Given the description of an element on the screen output the (x, y) to click on. 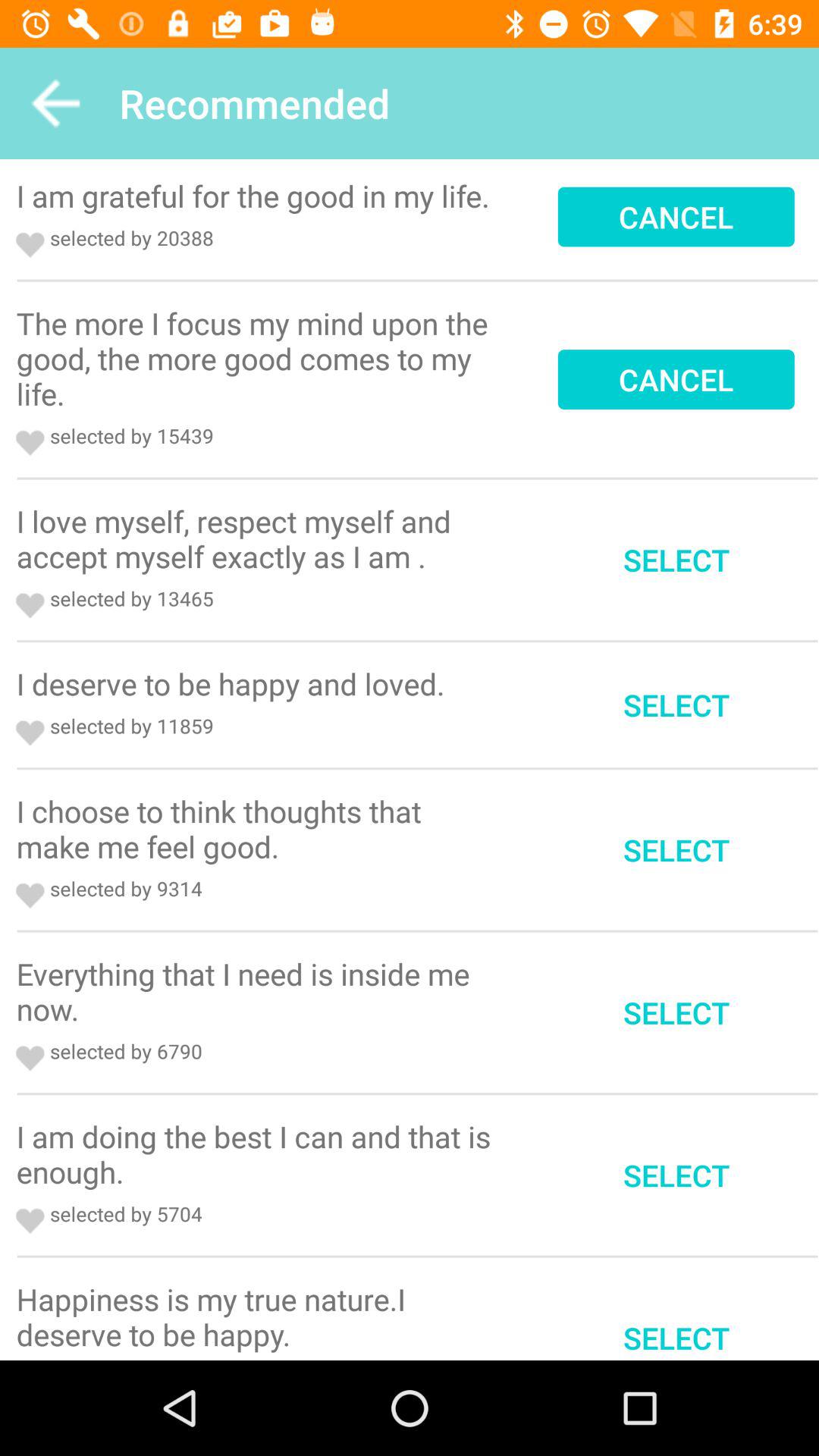
flip until the happiness is my item (258, 1316)
